Given the description of an element on the screen output the (x, y) to click on. 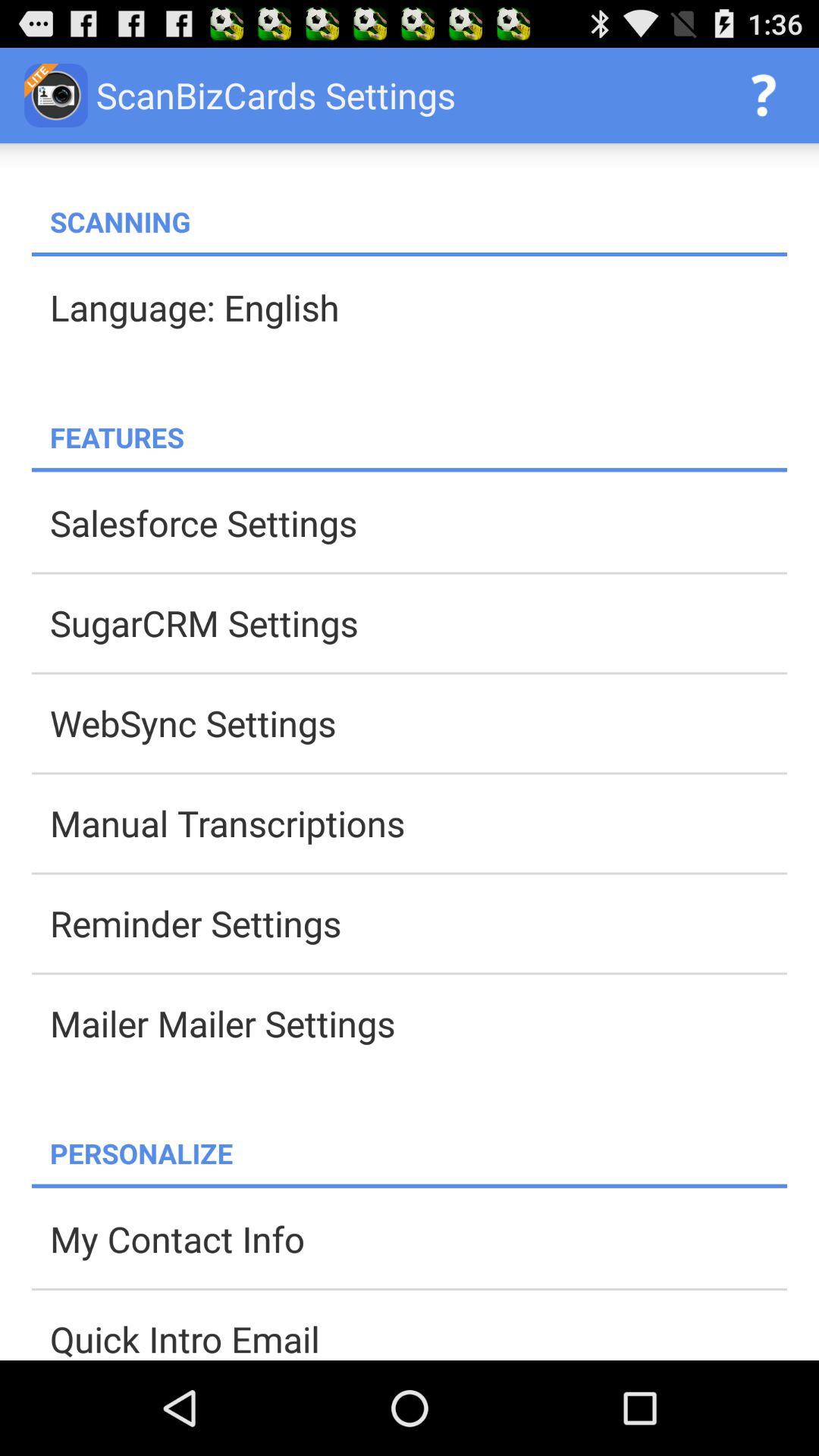
click the icon below the sugarcrm settings icon (418, 722)
